Given the description of an element on the screen output the (x, y) to click on. 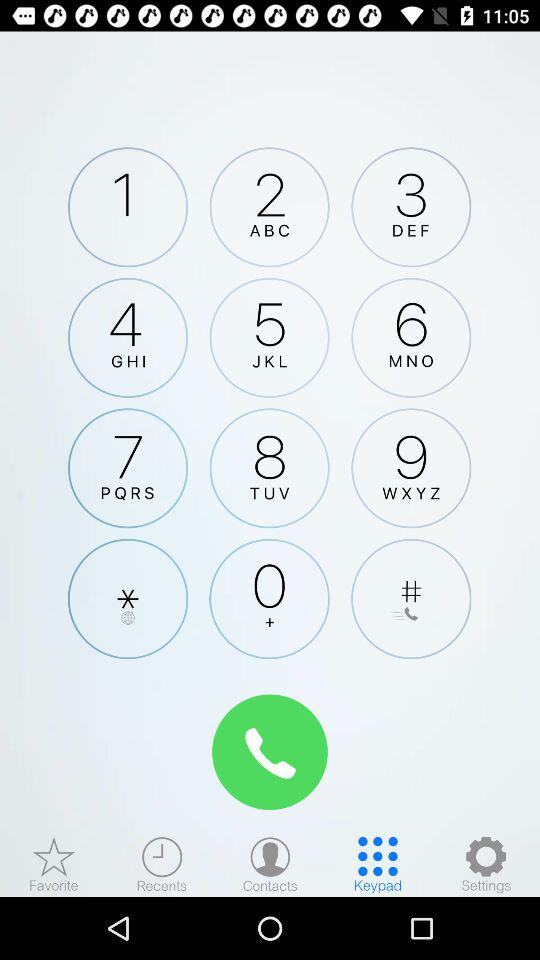
choose number 3 (411, 207)
